Given the description of an element on the screen output the (x, y) to click on. 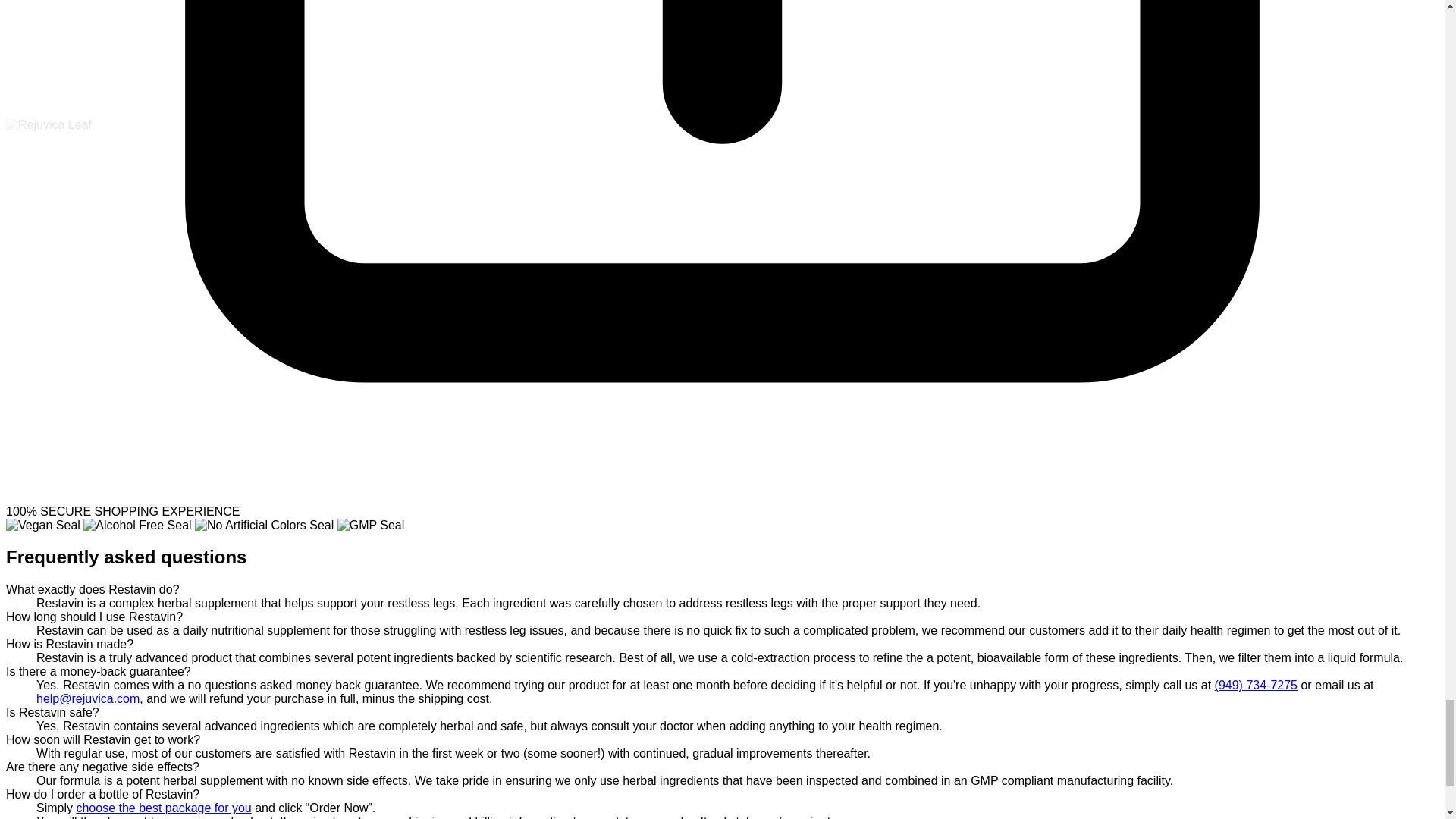
choose the best package for you (162, 807)
